Given the description of an element on the screen output the (x, y) to click on. 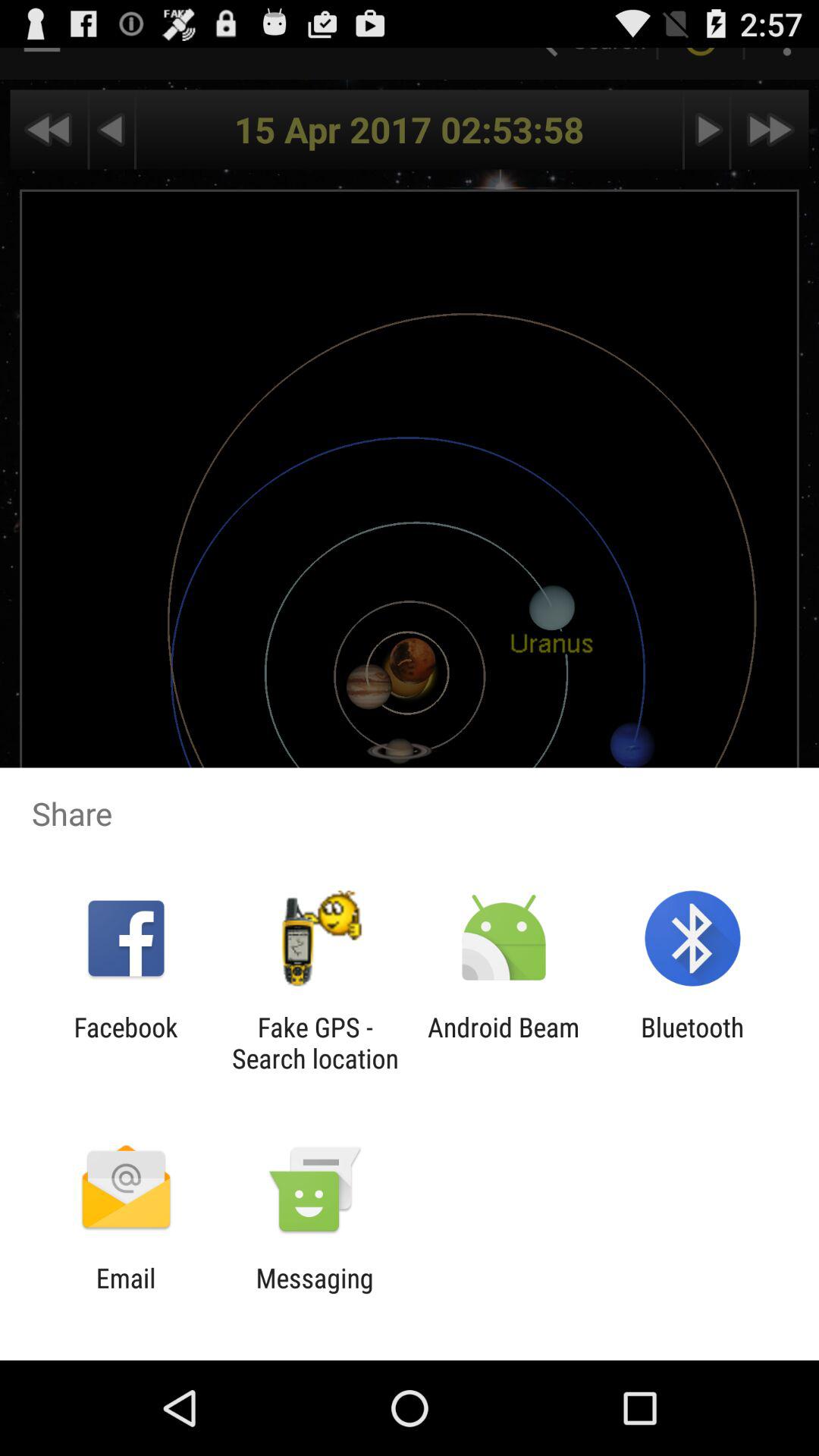
select the item to the right of the facebook item (314, 1042)
